Given the description of an element on the screen output the (x, y) to click on. 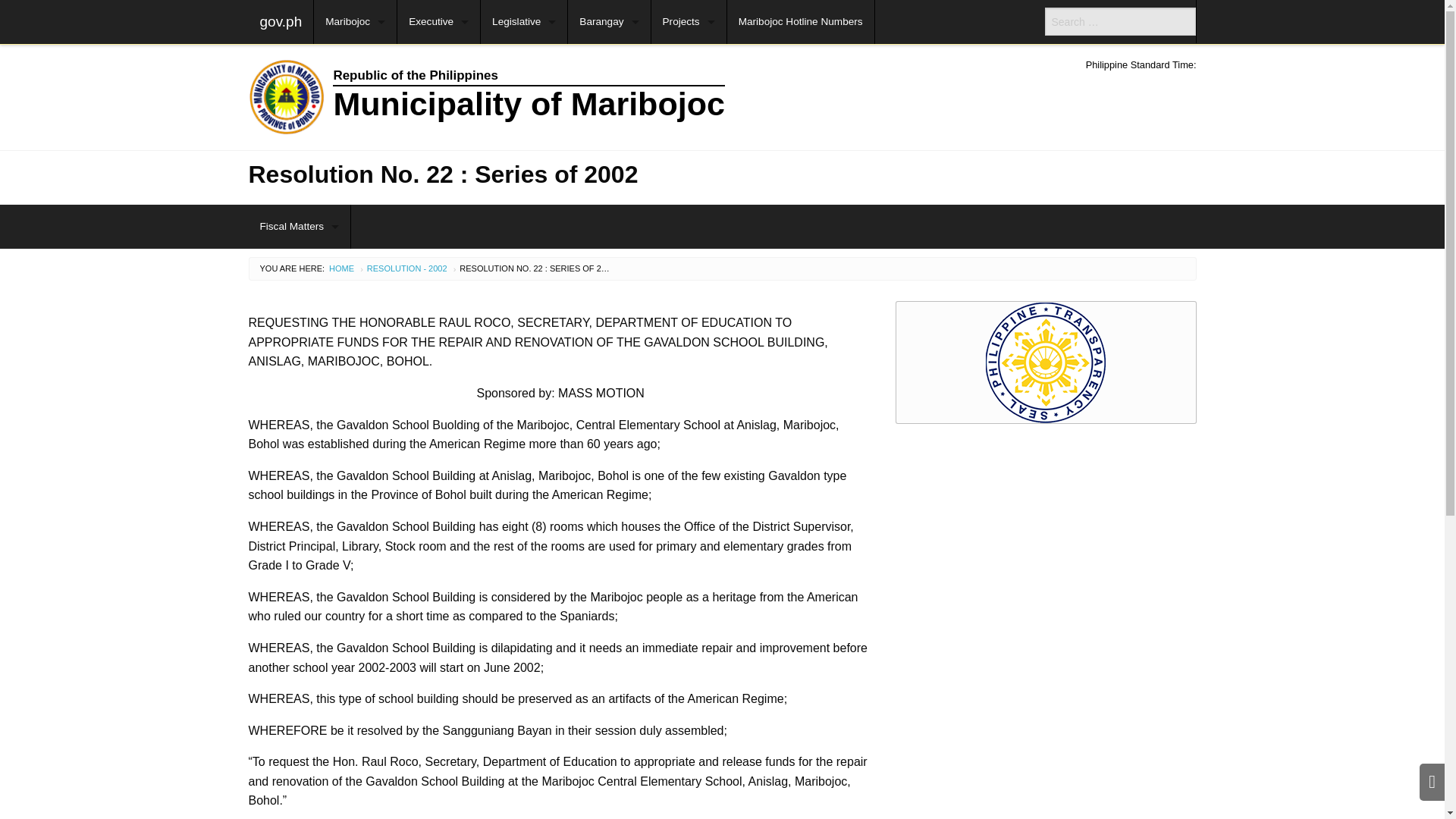
Maribojoc Municipal Government (600, 96)
Transparency Seal (1045, 362)
Search for: (1120, 21)
